Given the description of an element on the screen output the (x, y) to click on. 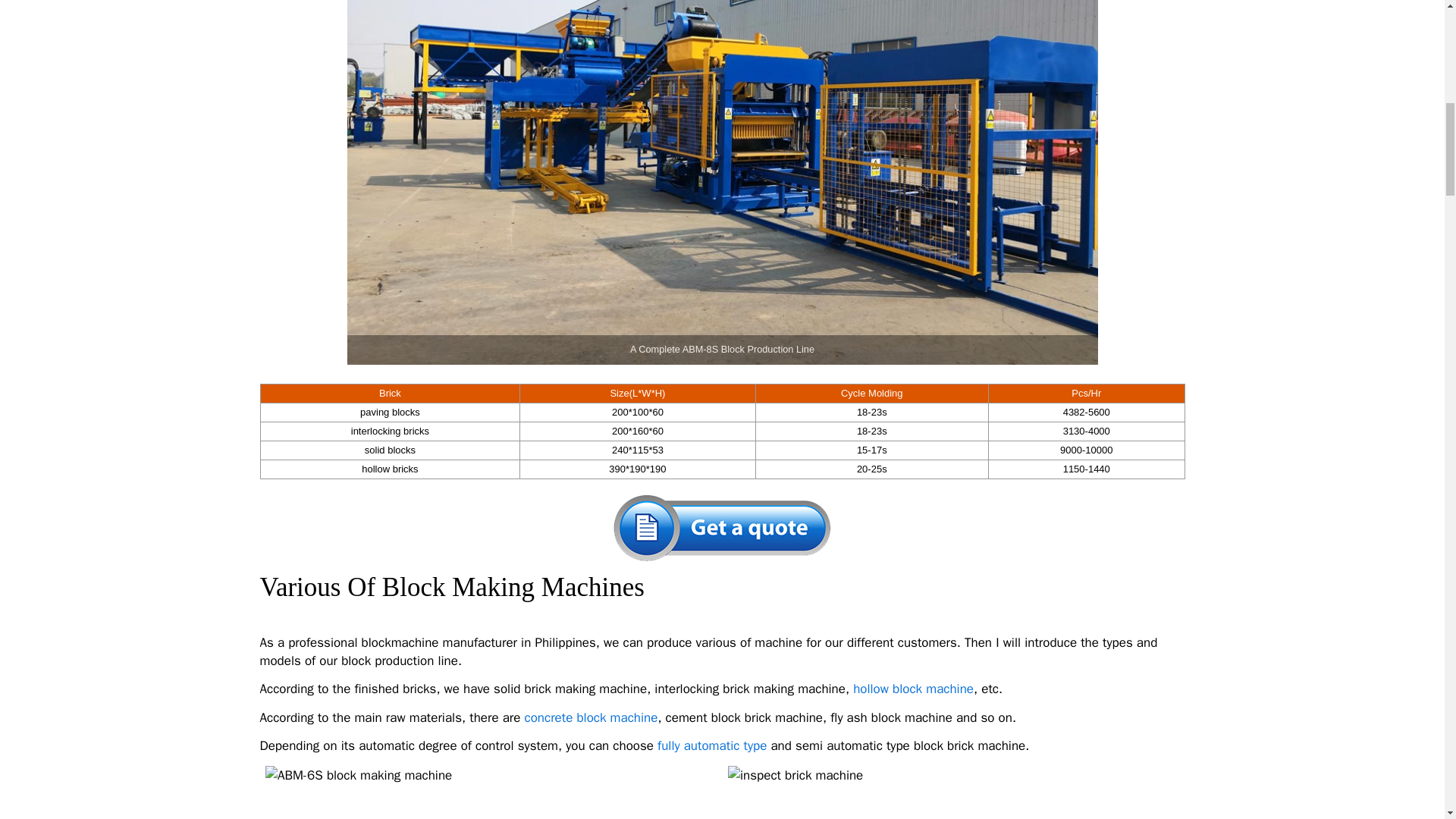
Scroll back to top (1414, 663)
